Given the description of an element on the screen output the (x, y) to click on. 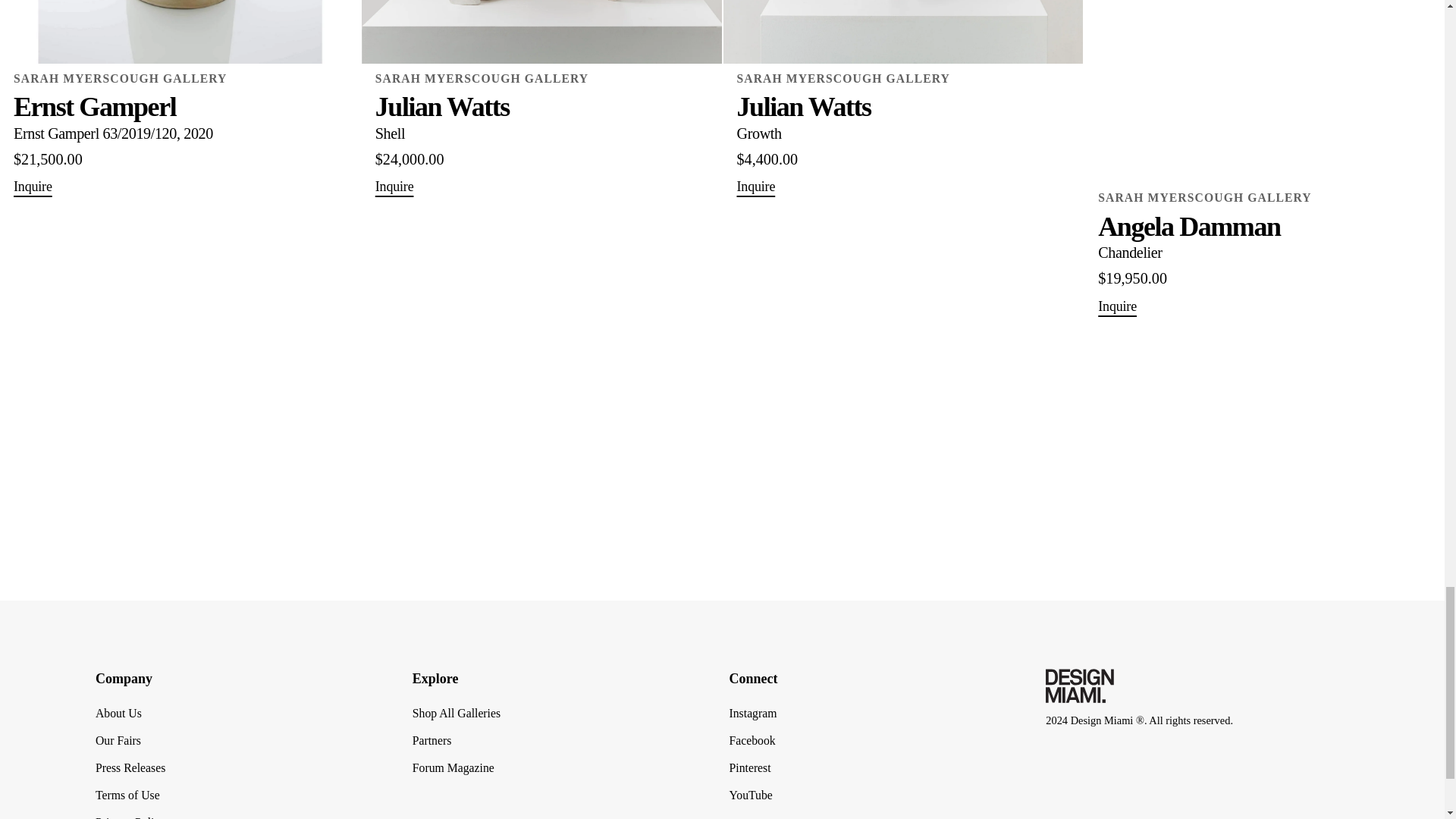
SARAH MYERSCOUGH GALLERY (179, 78)
